Given the description of an element on the screen output the (x, y) to click on. 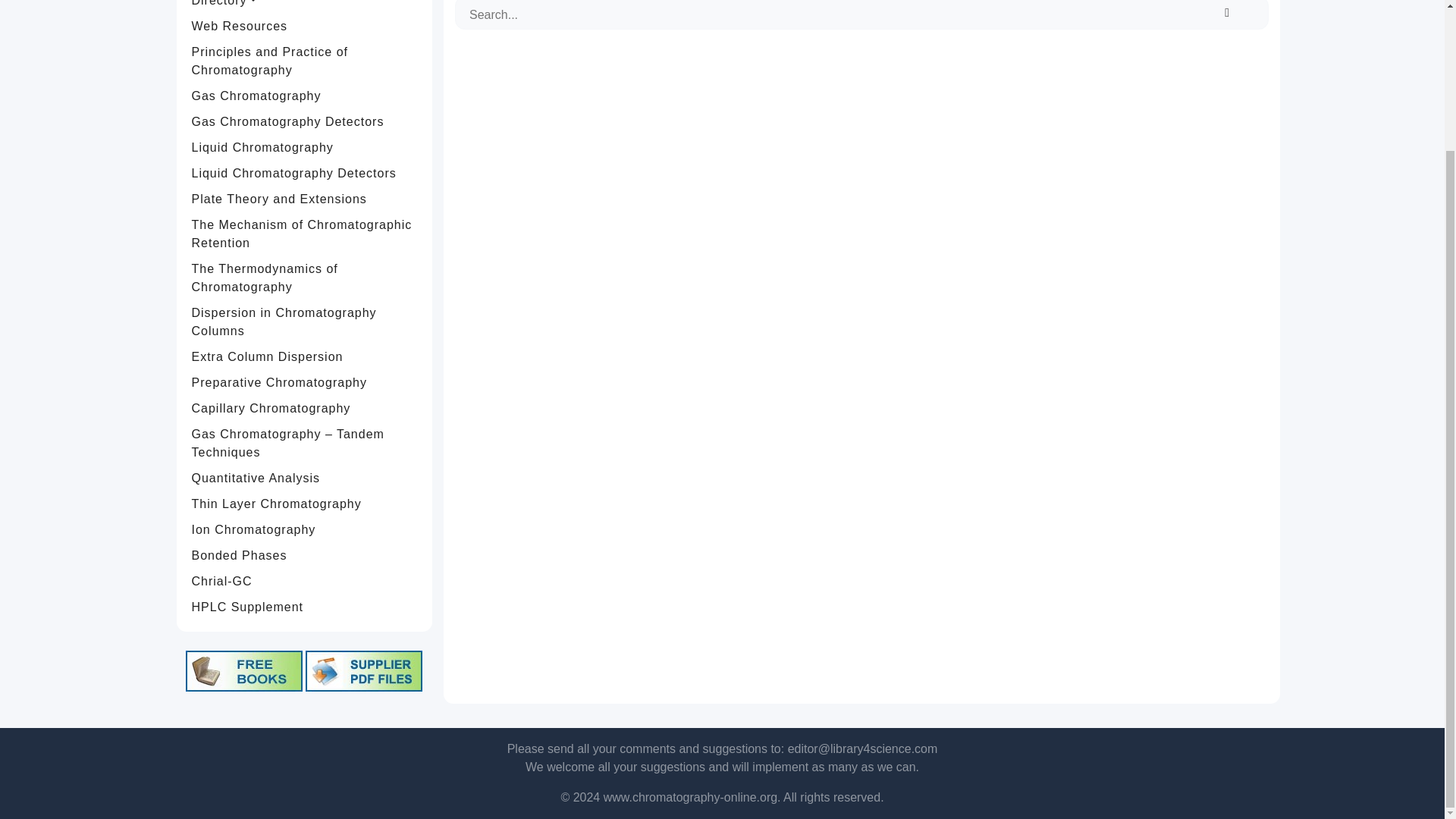
Preparative Chromatography (304, 382)
Gas Chromatography Detectors (304, 121)
Thin Layer Chromatography (304, 503)
Web Resources (304, 26)
Directory (304, 6)
Capillary Chromatography (304, 408)
Free Books (244, 670)
Bonded Phases (304, 555)
Ion Chromatography (304, 529)
The Thermodynamics of Chromatography (304, 278)
Chrial-GC (304, 581)
Gas Chromatography (304, 95)
Extra Column Dispersion (304, 356)
Quantitative Analysis (304, 478)
Free Brochures (363, 670)
